Given the description of an element on the screen output the (x, y) to click on. 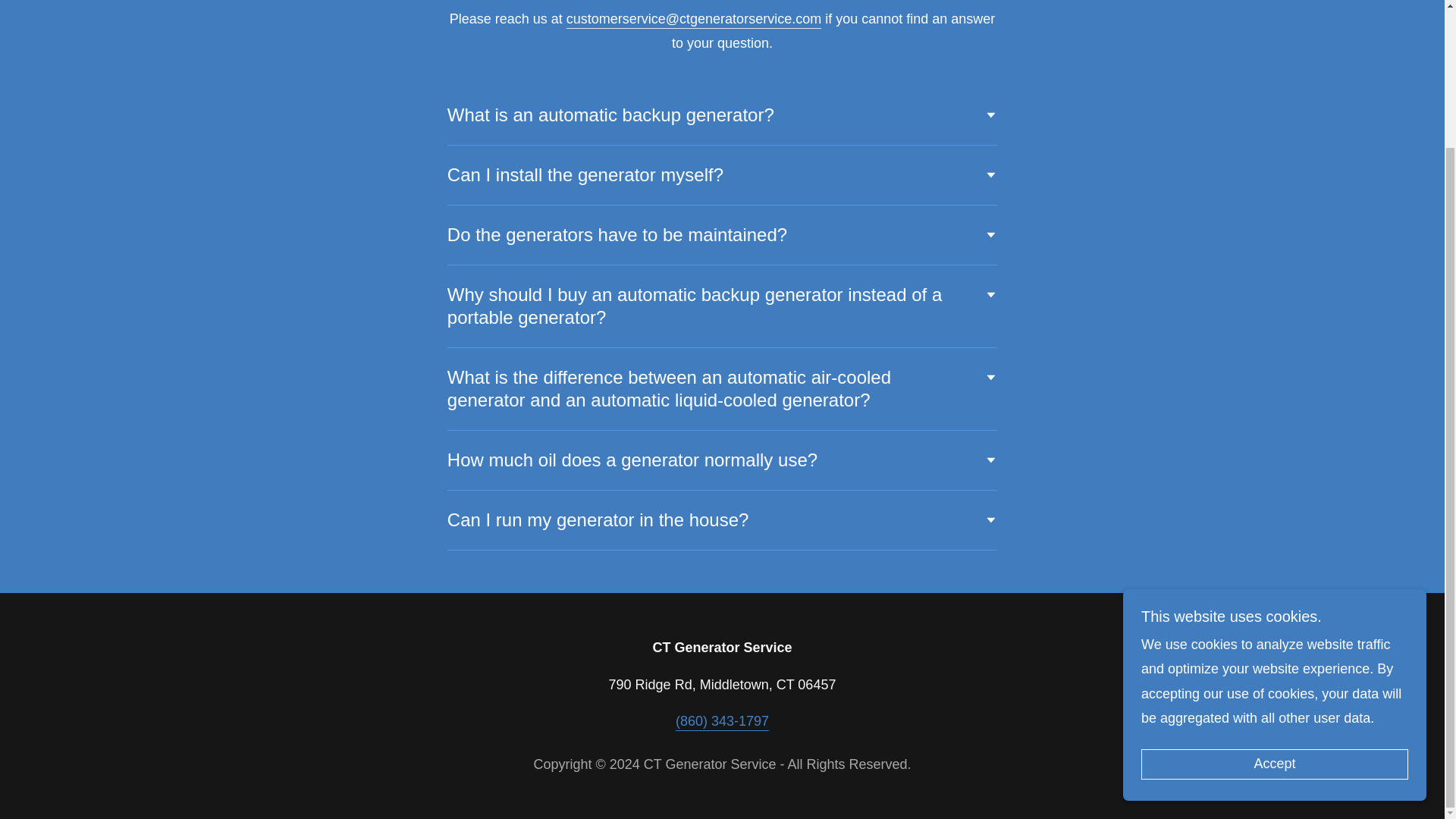
Accept (1274, 594)
Can I install the generator myself? (721, 175)
What is an automatic backup generator? (721, 114)
Do the generators have to be maintained? (721, 234)
How much oil does a generator normally use? (721, 460)
Can I run my generator in the house? (721, 519)
